Given the description of an element on the screen output the (x, y) to click on. 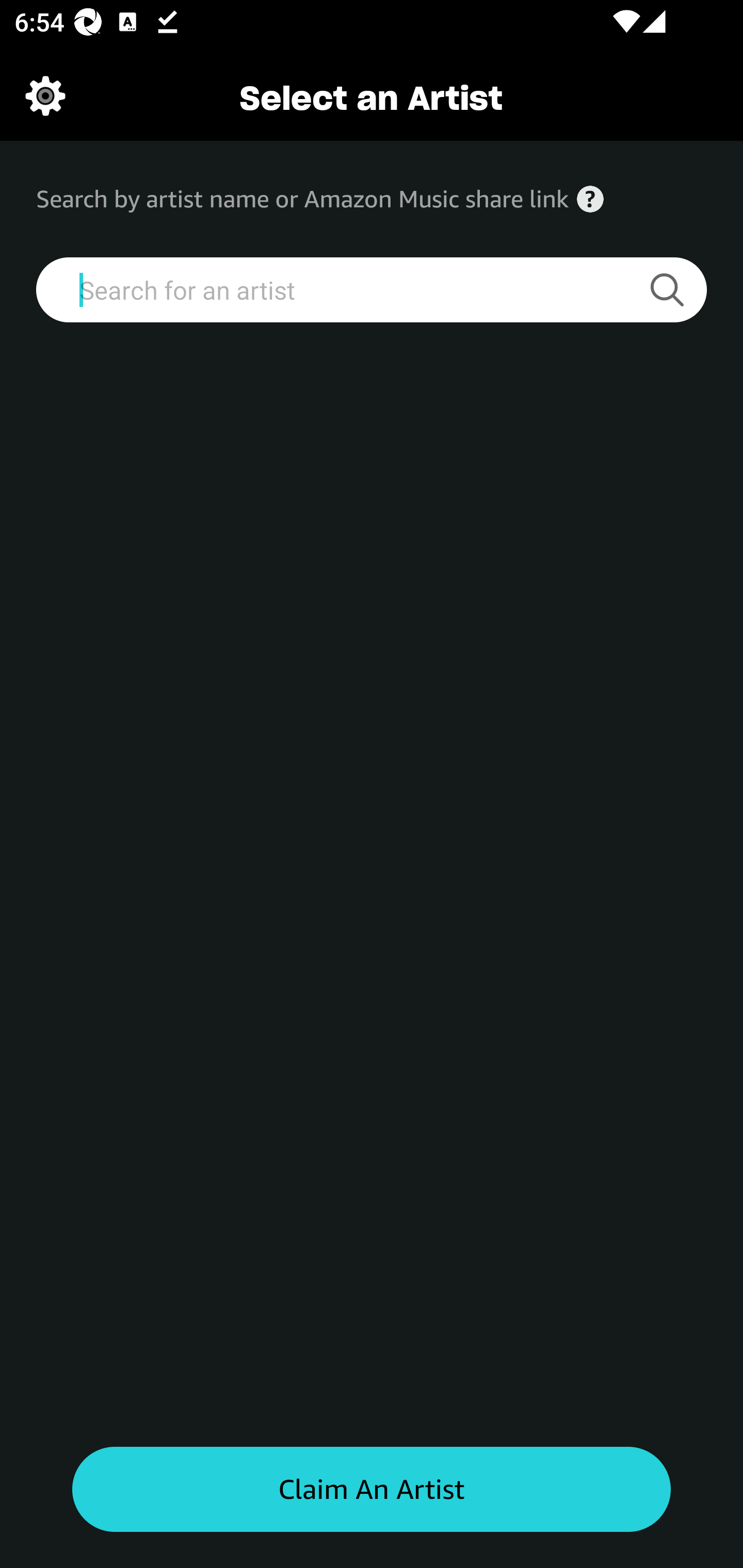
Help  icon (589, 199)
Claim an artist button Claim An Artist (371, 1489)
